Given the description of an element on the screen output the (x, y) to click on. 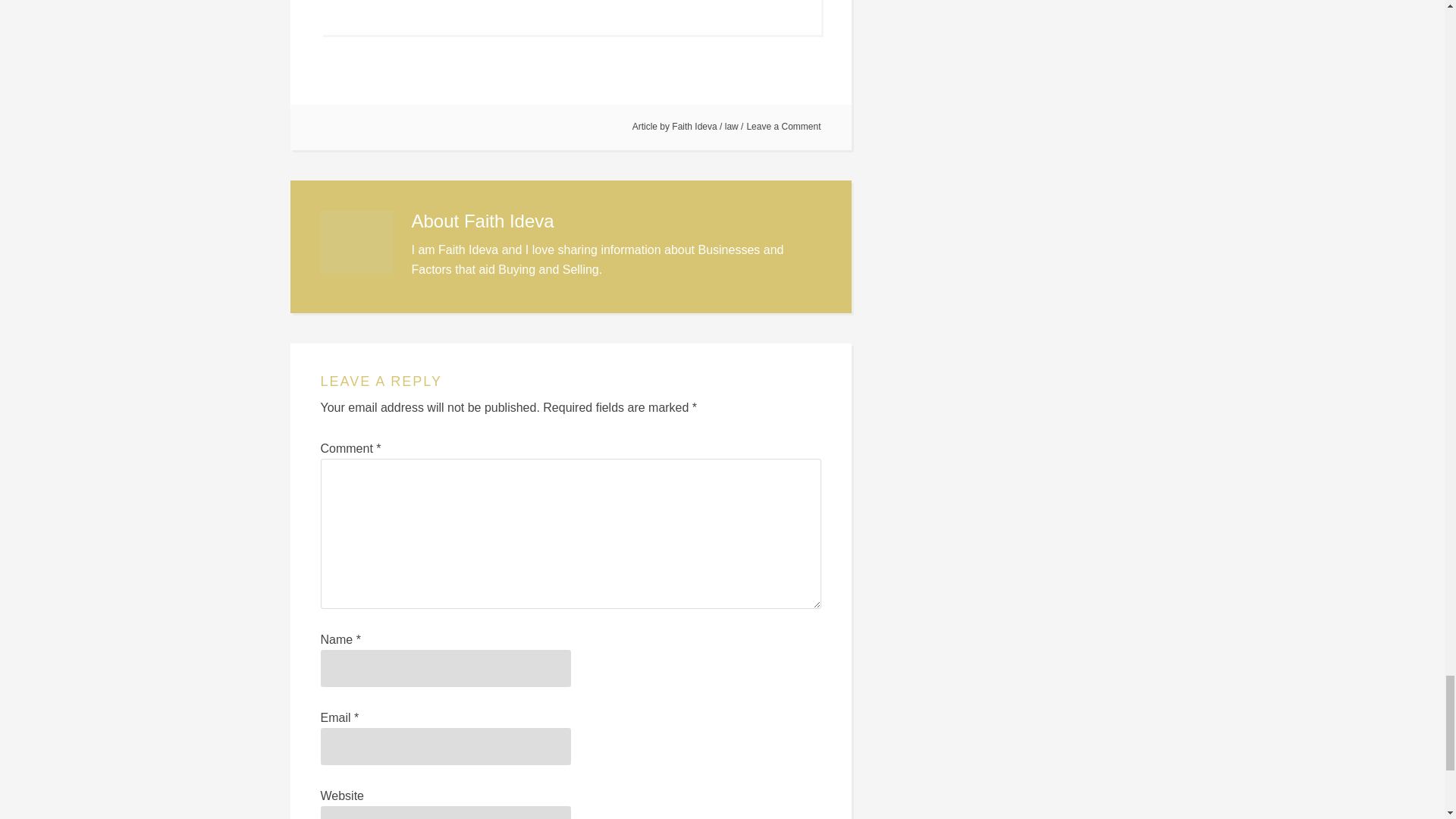
Faith Ideva (693, 126)
law (731, 126)
Leave a Comment (783, 126)
